Given the description of an element on the screen output the (x, y) to click on. 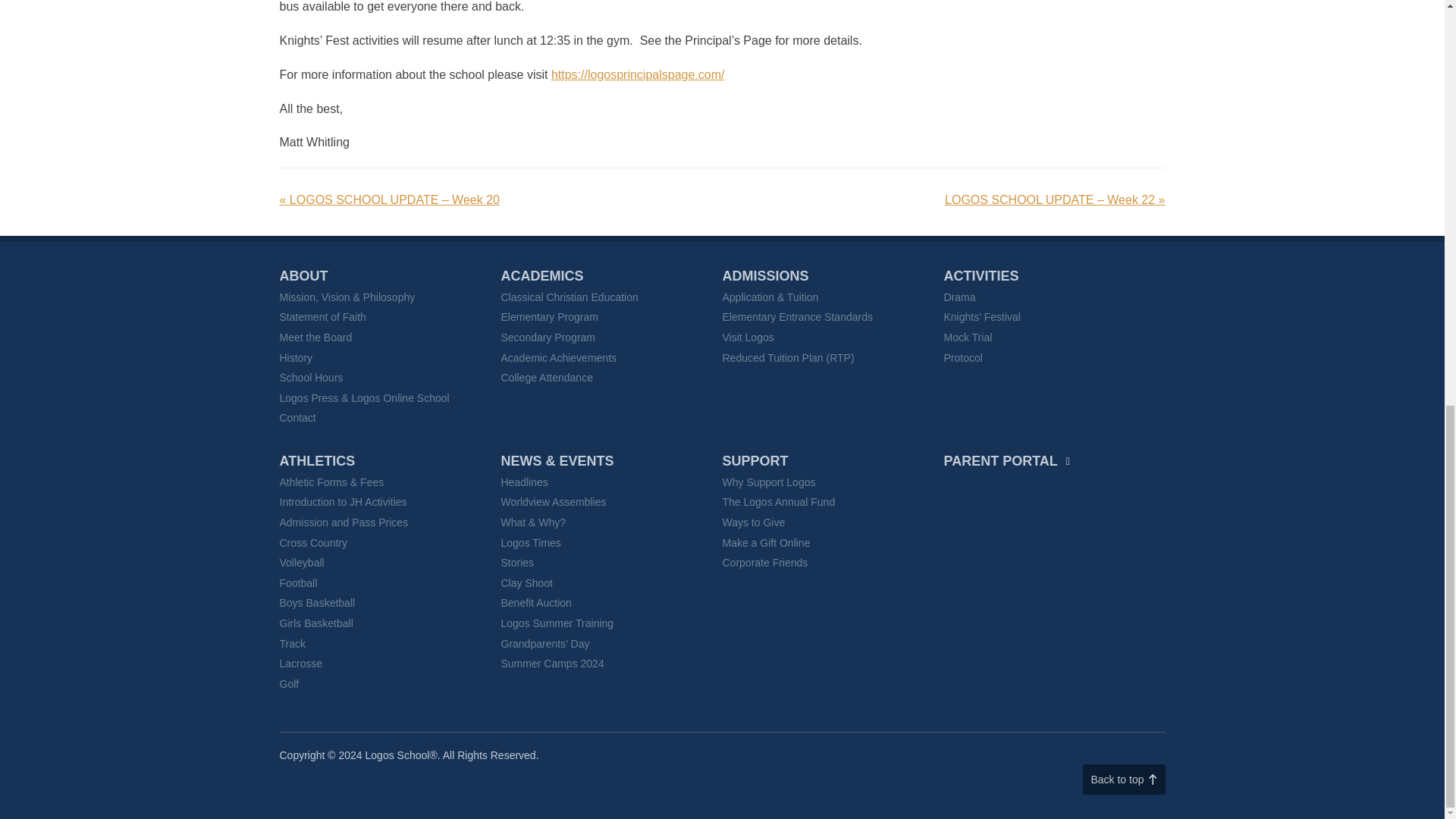
Activities (980, 275)
Academics (541, 275)
Athletics (317, 460)
Admissions (765, 275)
About (303, 275)
